Given the description of an element on the screen output the (x, y) to click on. 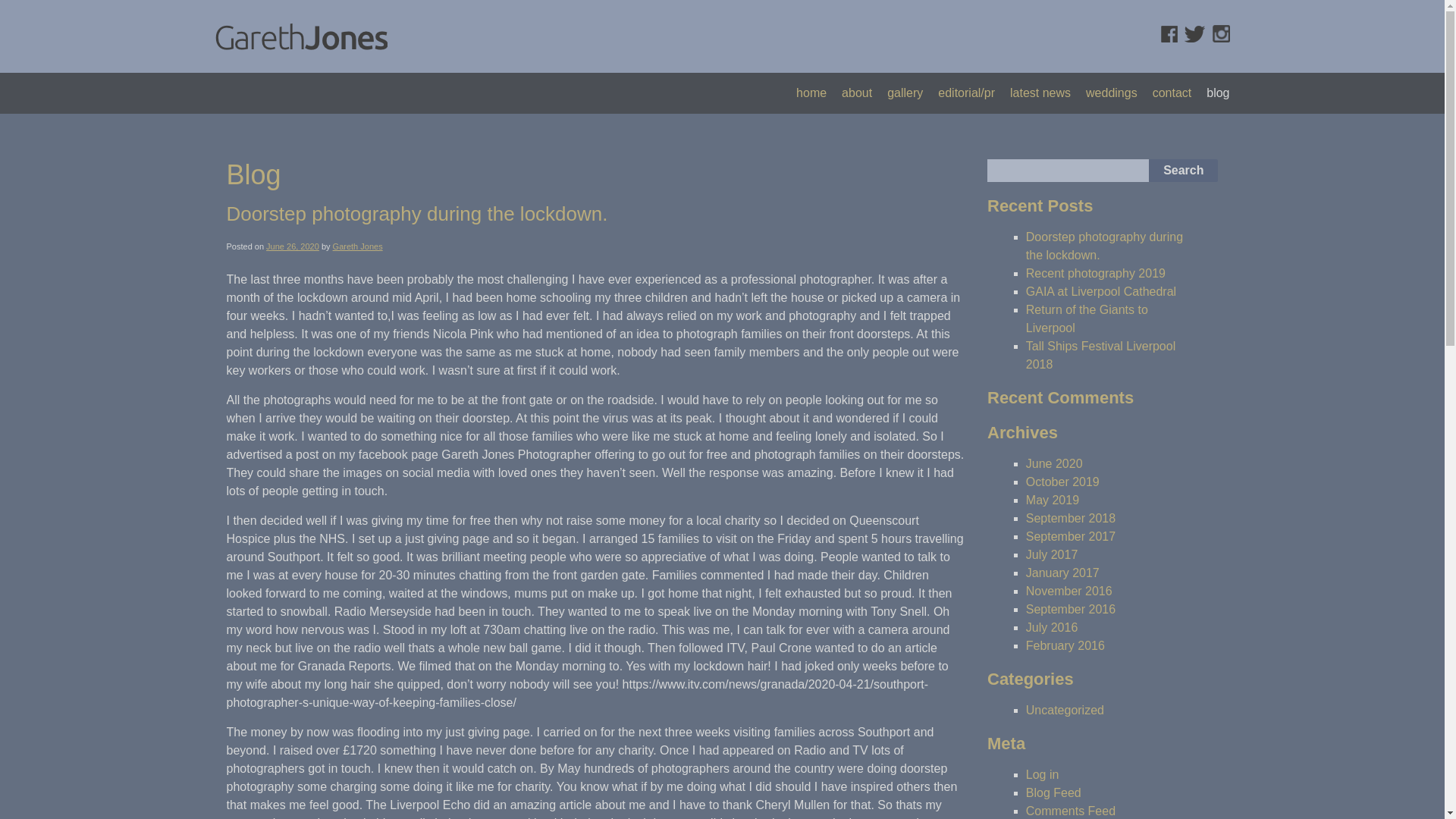
GAIA at Liverpool Cathedral (1101, 291)
September 2016 (1070, 608)
Uncategorized (1064, 709)
Gallery (904, 92)
Doorstep photography during the lockdown. (1104, 245)
November 2016 (1069, 590)
Comments Feed (1070, 810)
Gareth Jones (357, 245)
10:50 am (292, 245)
Search (1182, 169)
